Given the description of an element on the screen output the (x, y) to click on. 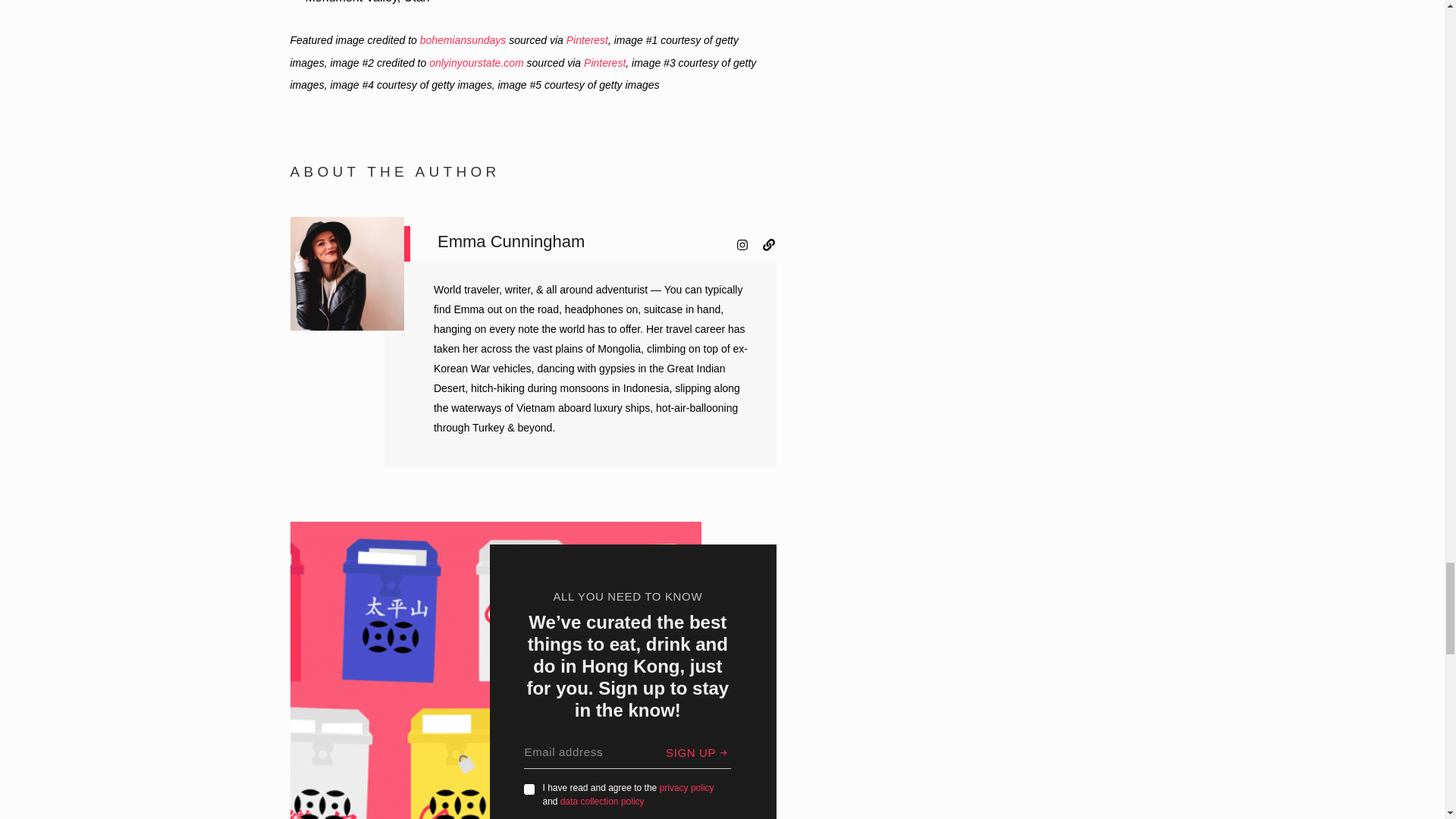
on (529, 788)
Sign Up (697, 753)
